Given the description of an element on the screen output the (x, y) to click on. 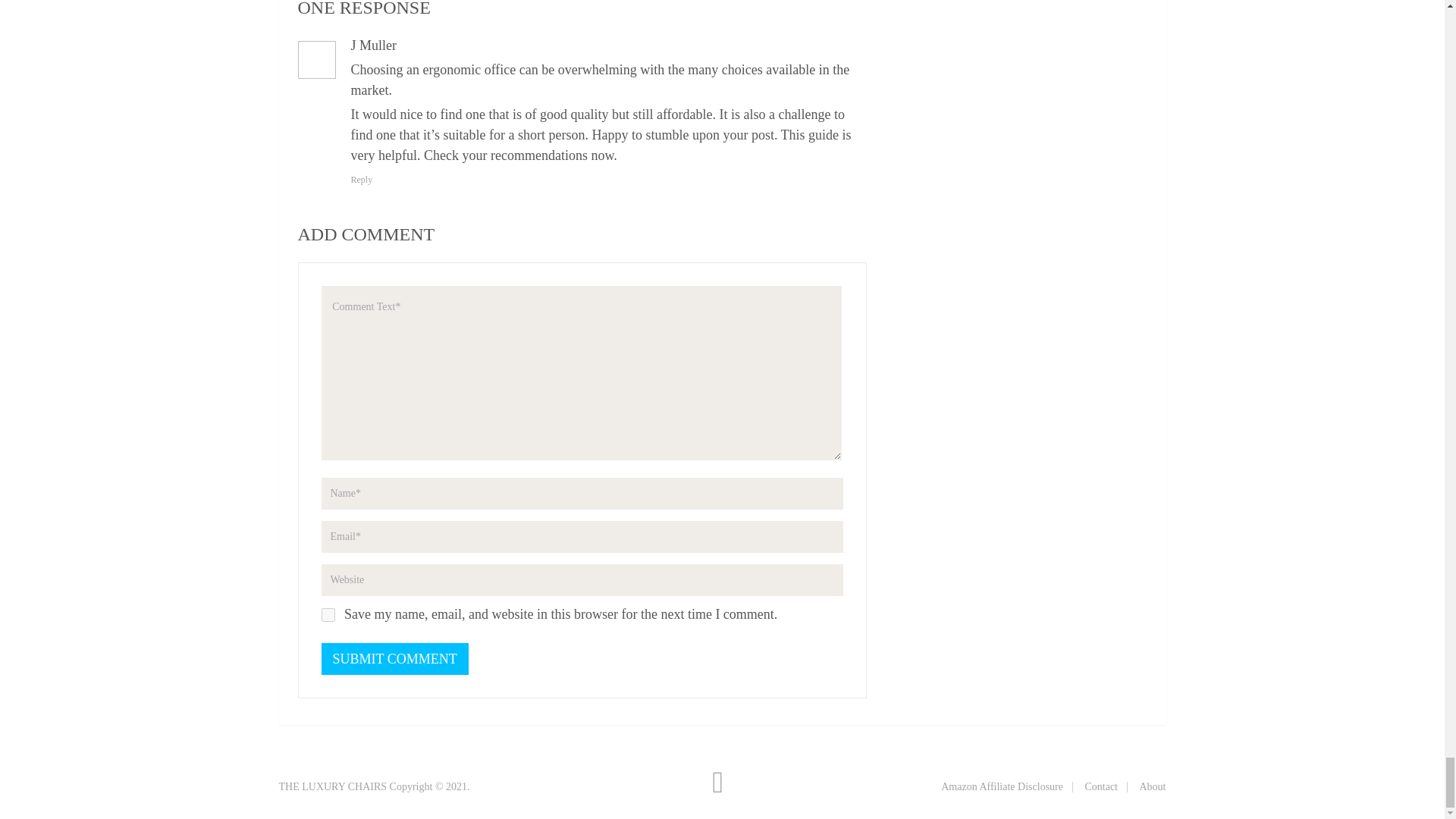
yes (327, 614)
Submit Comment (394, 658)
